Given the description of an element on the screen output the (x, y) to click on. 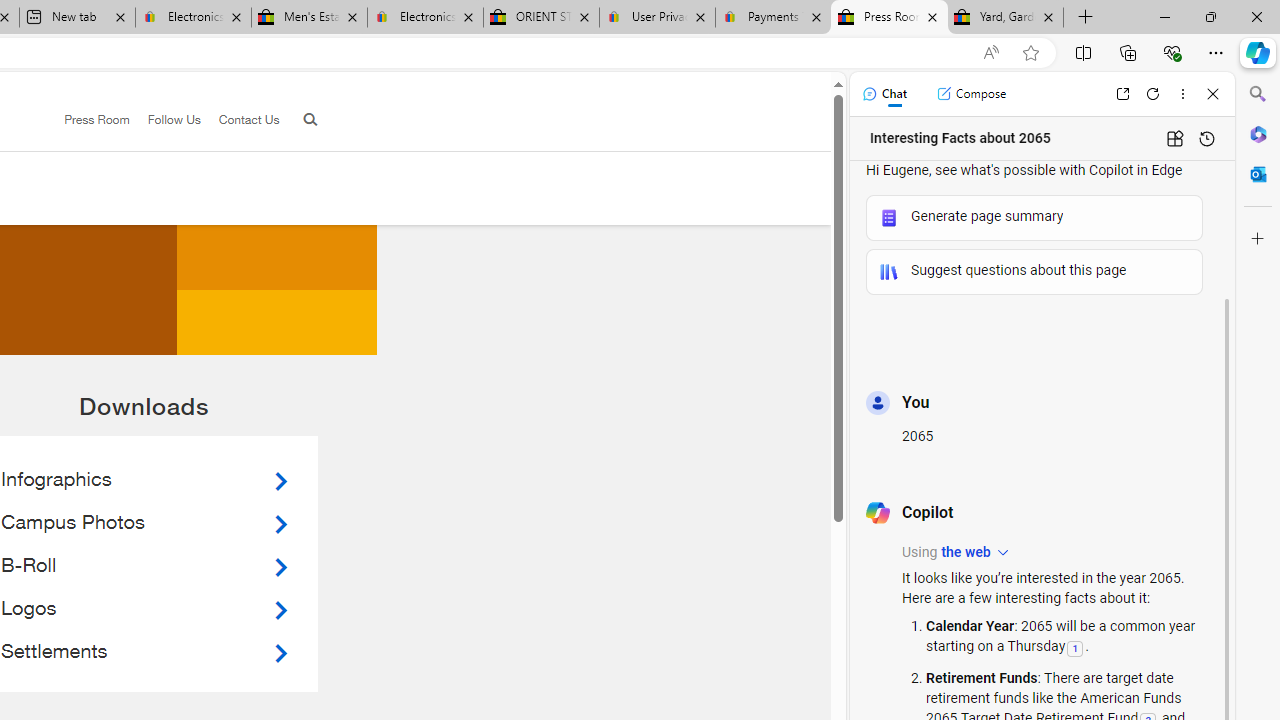
Follow Us (173, 119)
